Given the description of an element on the screen output the (x, y) to click on. 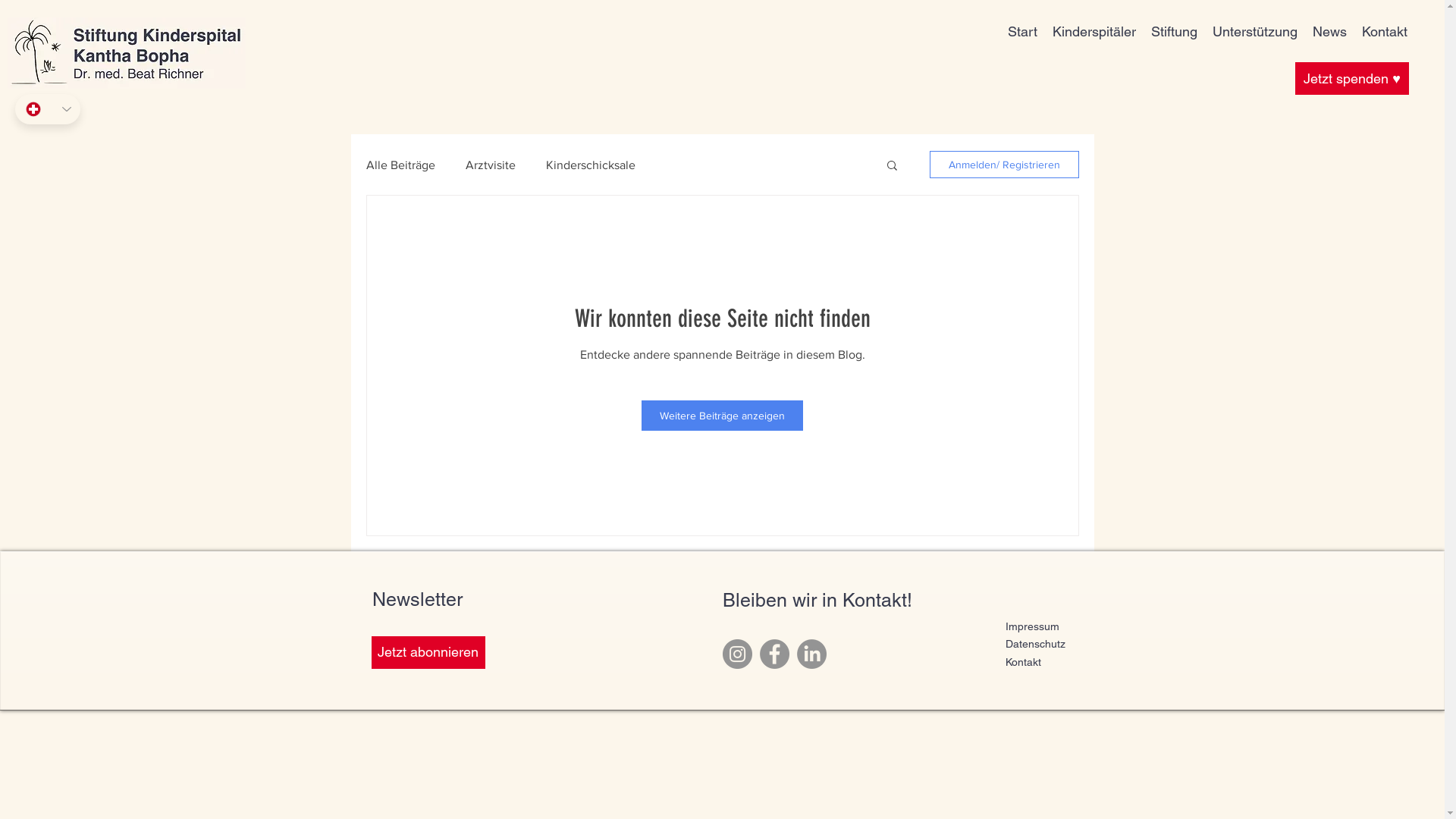
Kinderschicksale Element type: text (590, 163)
Start Element type: text (1022, 31)
Anmelden/ Registrieren Element type: text (1004, 164)
Datenschutz Element type: text (1035, 643)
Kontakt Element type: text (1384, 31)
Impressum Element type: text (1032, 626)
Arztvisite Element type: text (490, 163)
Stiftung Element type: text (1173, 31)
Kontakt Element type: text (1023, 661)
News Element type: text (1329, 31)
Jetzt abonnieren Element type: text (428, 651)
